Given the description of an element on the screen output the (x, y) to click on. 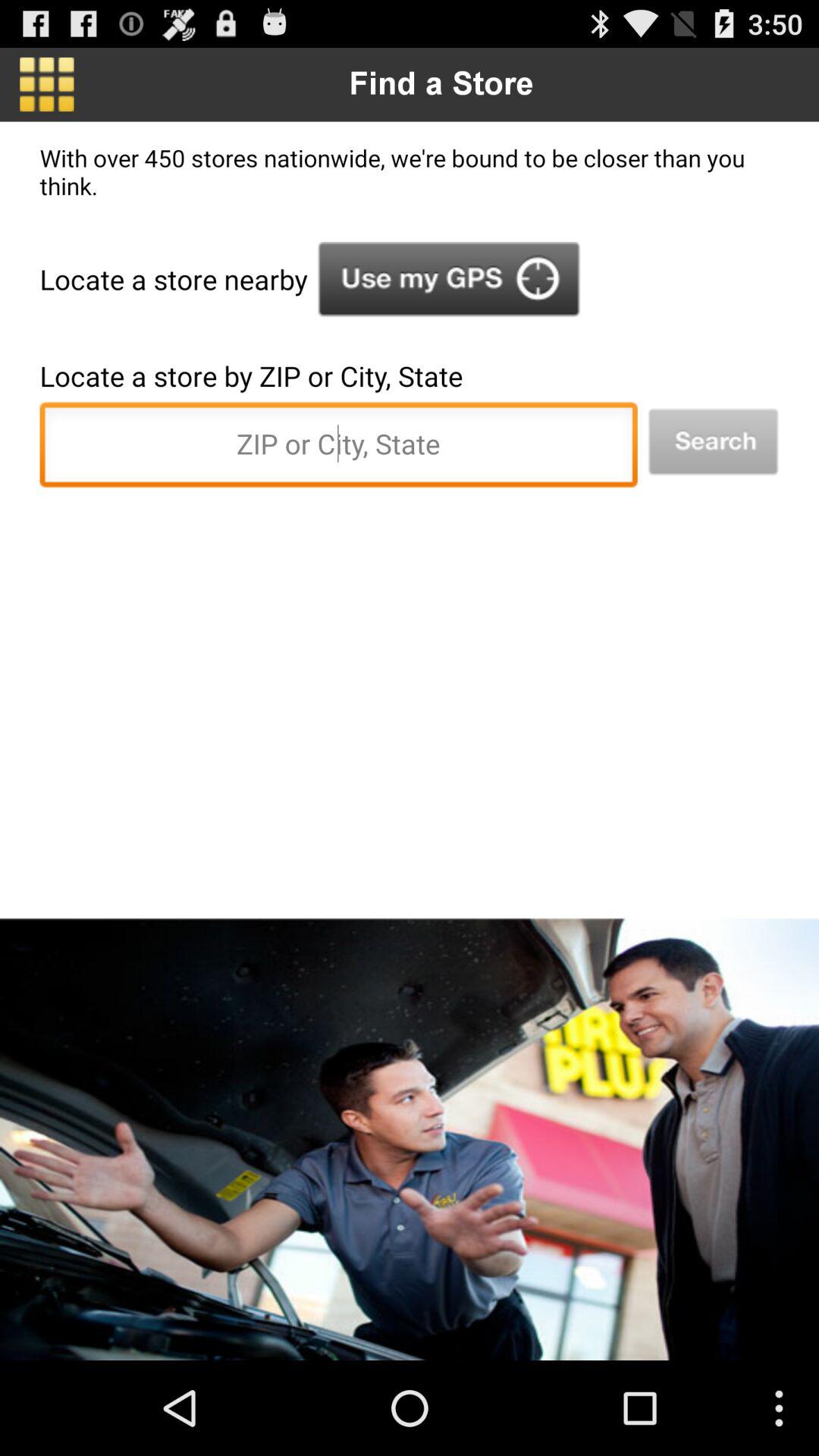
launch the item to the right of the locate a store item (448, 279)
